Given the description of an element on the screen output the (x, y) to click on. 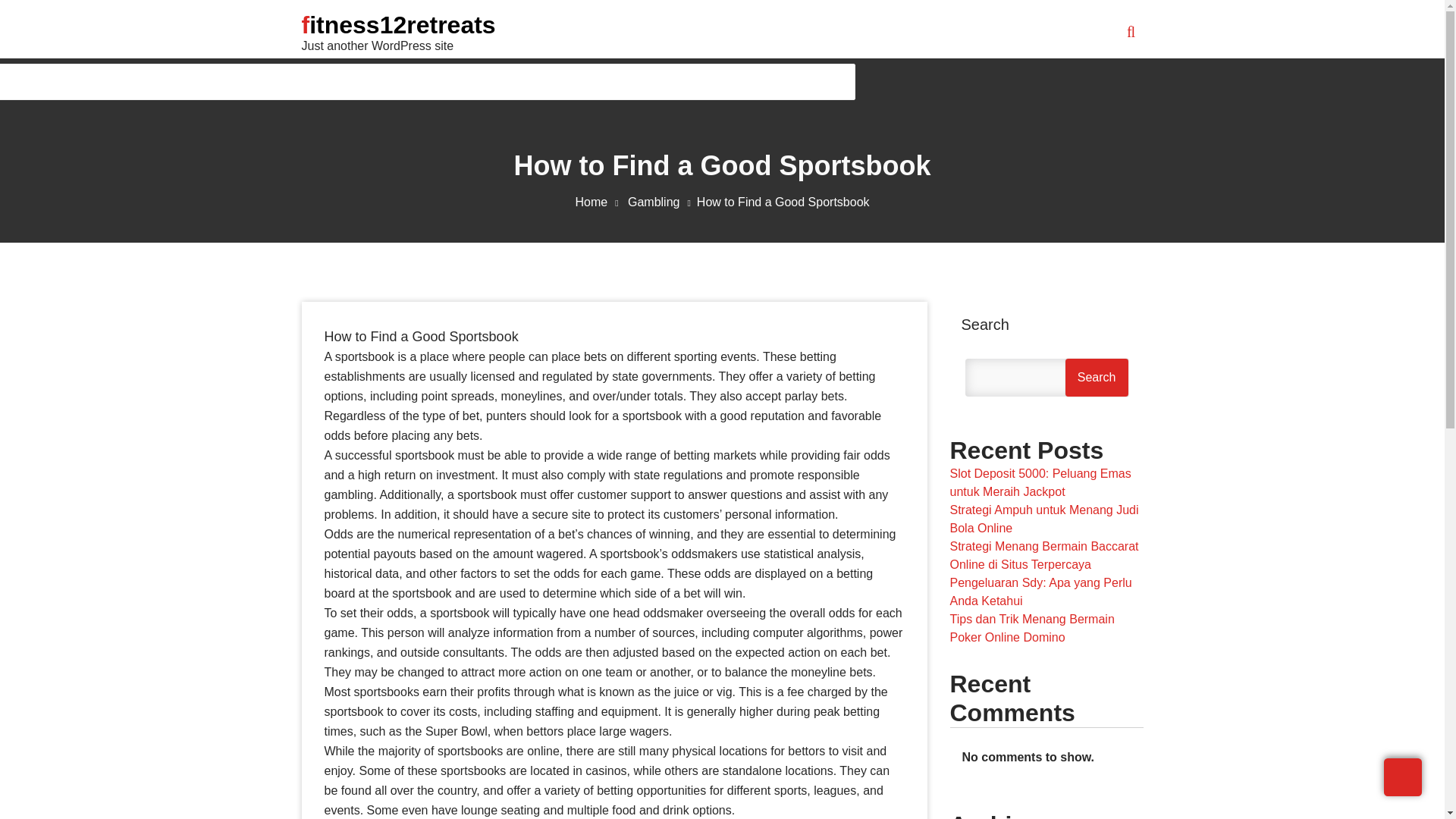
Home (599, 201)
Strategi Menang Bermain Baccarat Online di Situs Terpercaya (1043, 554)
Search (1096, 377)
Strategi Ampuh untuk Menang Judi Bola Online (1043, 518)
Slot Deposit 5000: Peluang Emas untuk Meraih Jackpot (1040, 481)
Gambling (662, 201)
Pengeluaran Sdy: Apa yang Perlu Anda Ketahui (1040, 591)
Tips dan Trik Menang Bermain Poker Online Domino (1031, 627)
fitness12retreats (398, 24)
